Given the description of an element on the screen output the (x, y) to click on. 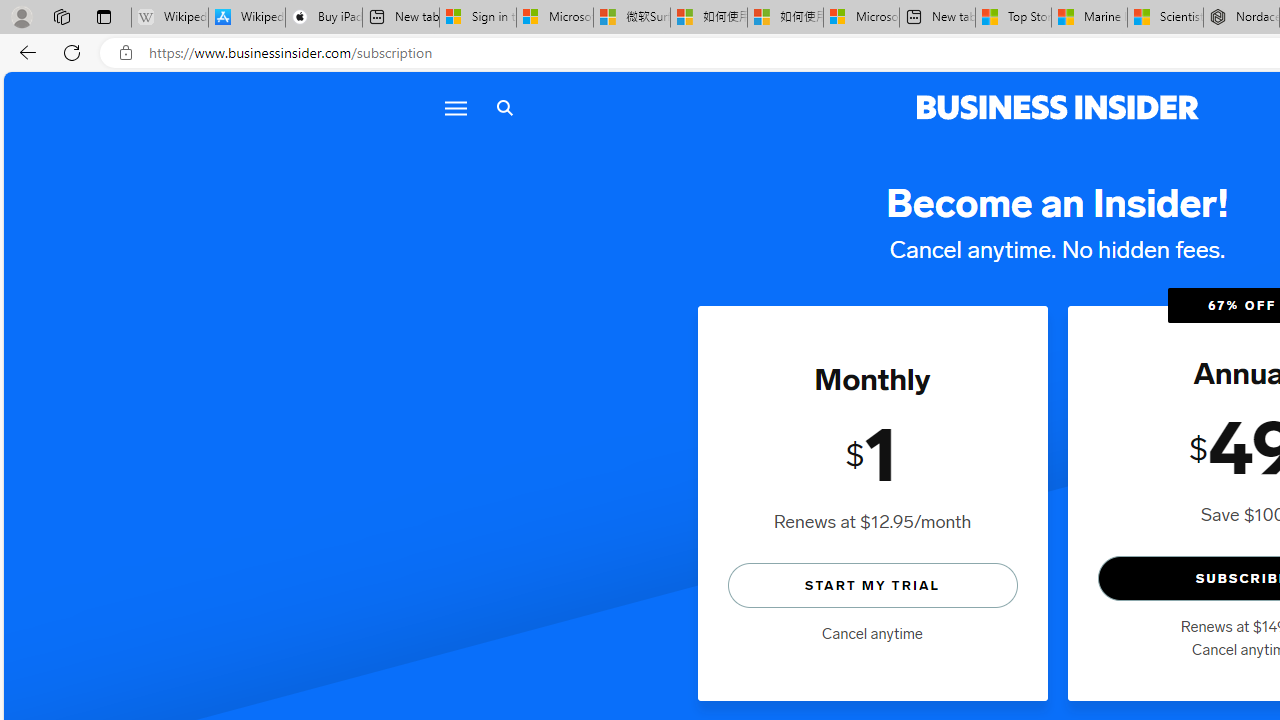
Menu (454, 107)
Wikipedia - Sleeping (169, 17)
Top Stories - MSN (1012, 17)
Business Insider logo (1057, 107)
Search icon (504, 107)
Business Insider logo (1057, 107)
Buy iPad - Apple (323, 17)
Microsoft account | Account Checkup (861, 17)
Menu icon (455, 107)
